Given the description of an element on the screen output the (x, y) to click on. 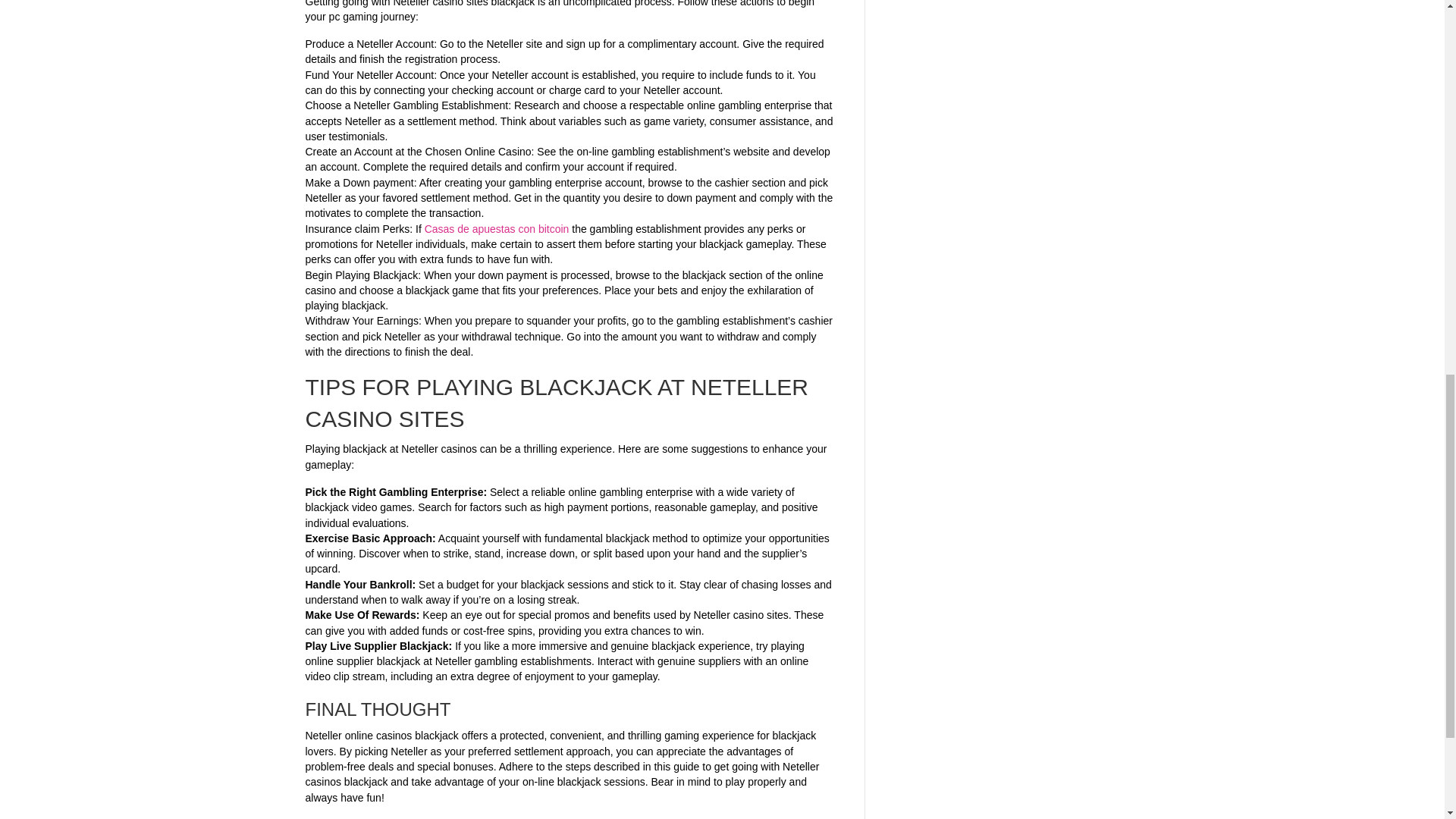
Casas de apuestas con bitcoin (497, 228)
